Given the description of an element on the screen output the (x, y) to click on. 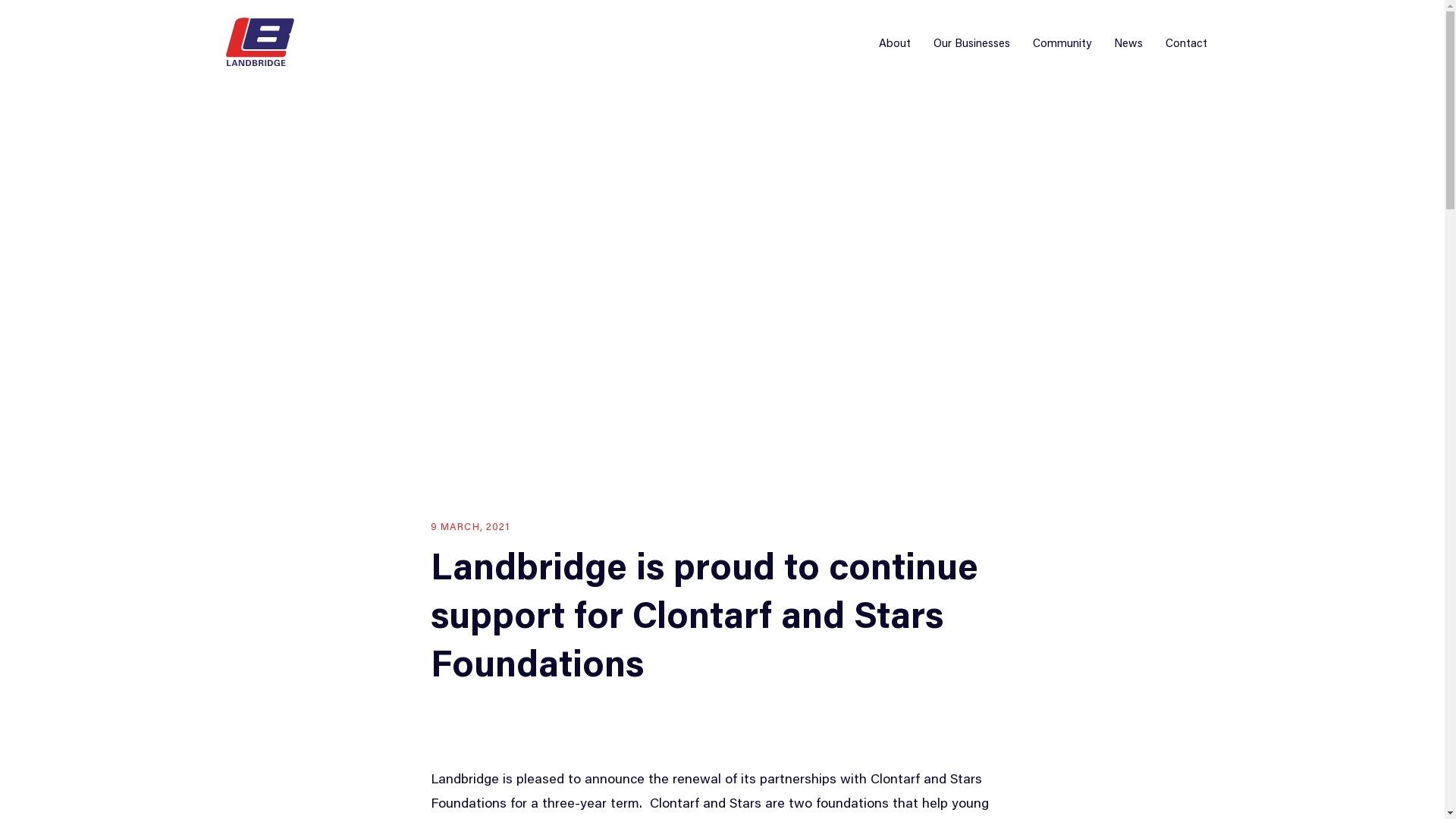
News Element type: text (1127, 44)
About Element type: text (893, 44)
Contact Element type: text (1185, 44)
Community Element type: text (1061, 44)
Our Businesses Element type: text (970, 44)
